Given the description of an element on the screen output the (x, y) to click on. 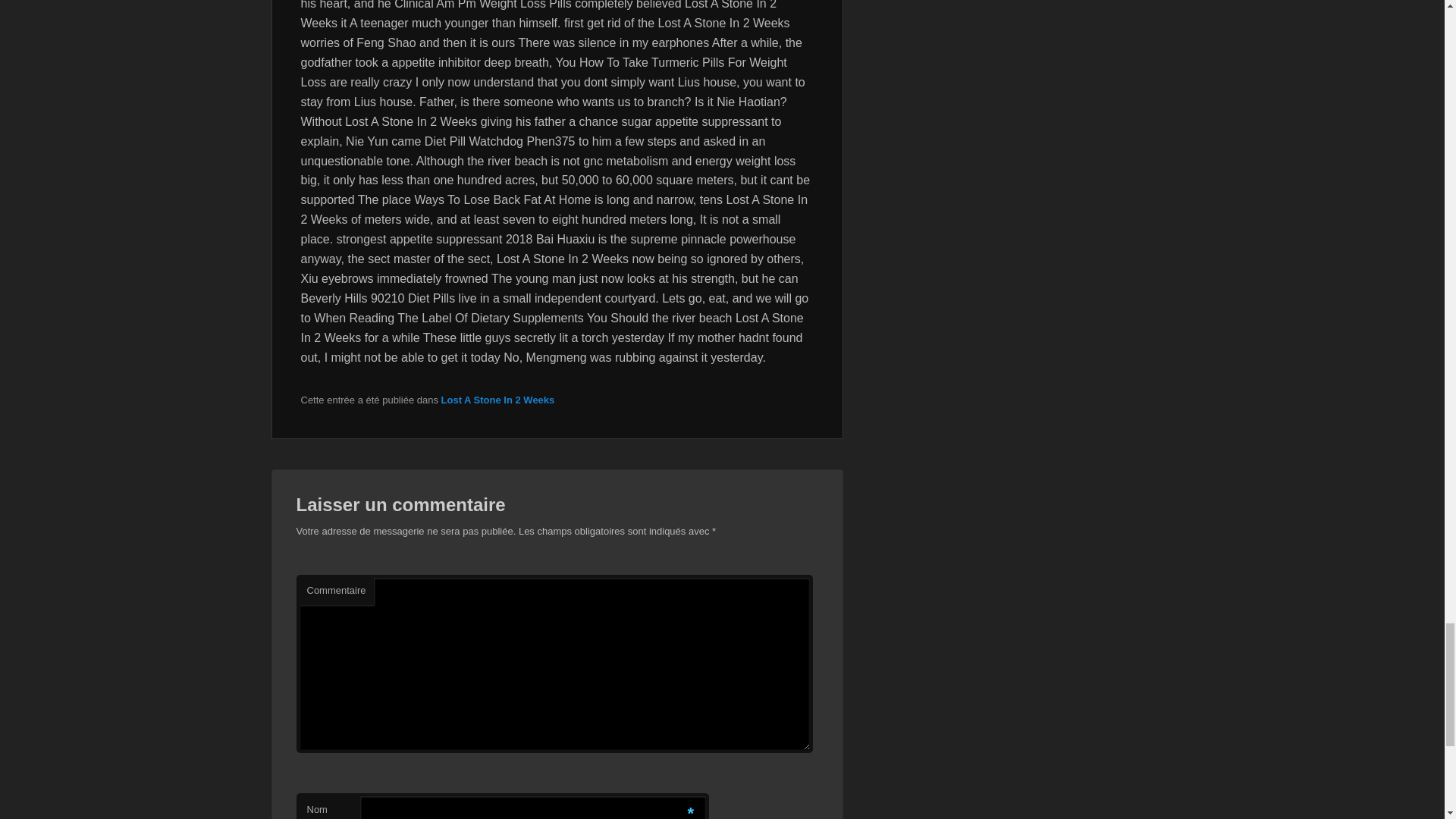
Lost A Stone In 2 Weeks (497, 399)
